Given the description of an element on the screen output the (x, y) to click on. 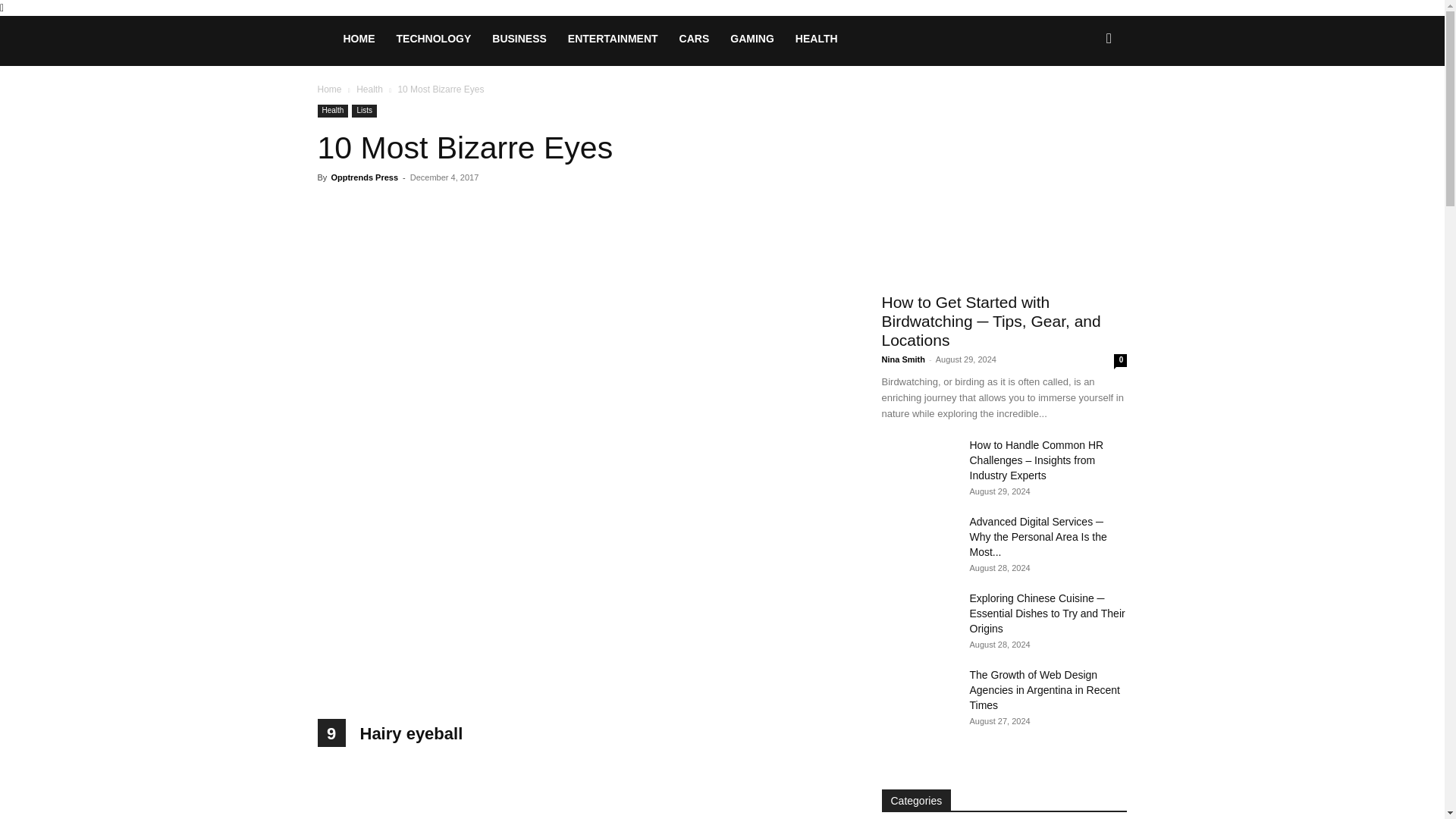
View all posts in Health (369, 89)
HOME (358, 38)
Opptrends Press (363, 176)
ENTERTAINMENT (612, 38)
Search (1085, 103)
Health (369, 89)
GAMING (751, 38)
CARS (694, 38)
Health (332, 110)
HEALTH (816, 38)
